Given the description of an element on the screen output the (x, y) to click on. 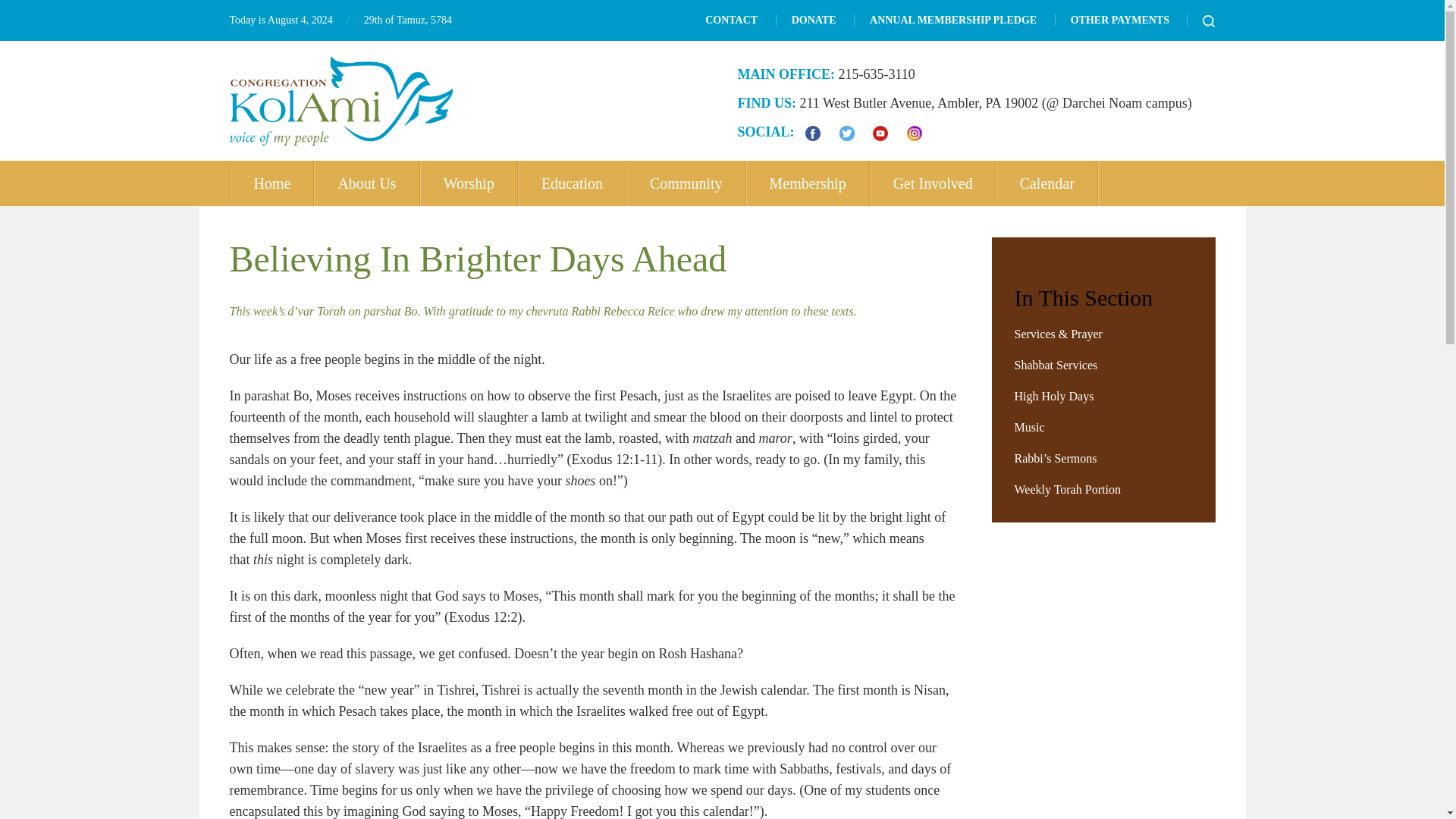
Worship (469, 183)
Return to the homepage (340, 100)
Worship (469, 183)
Education (572, 183)
DONATE (813, 19)
Community (686, 183)
Home (272, 183)
Home (272, 183)
OTHER PAYMENTS (1119, 19)
Membership (808, 183)
CONTACT (730, 19)
ANNUAL MEMBERSHIP PLEDGE (952, 19)
About Us (367, 183)
About Us (367, 183)
